Given the description of an element on the screen output the (x, y) to click on. 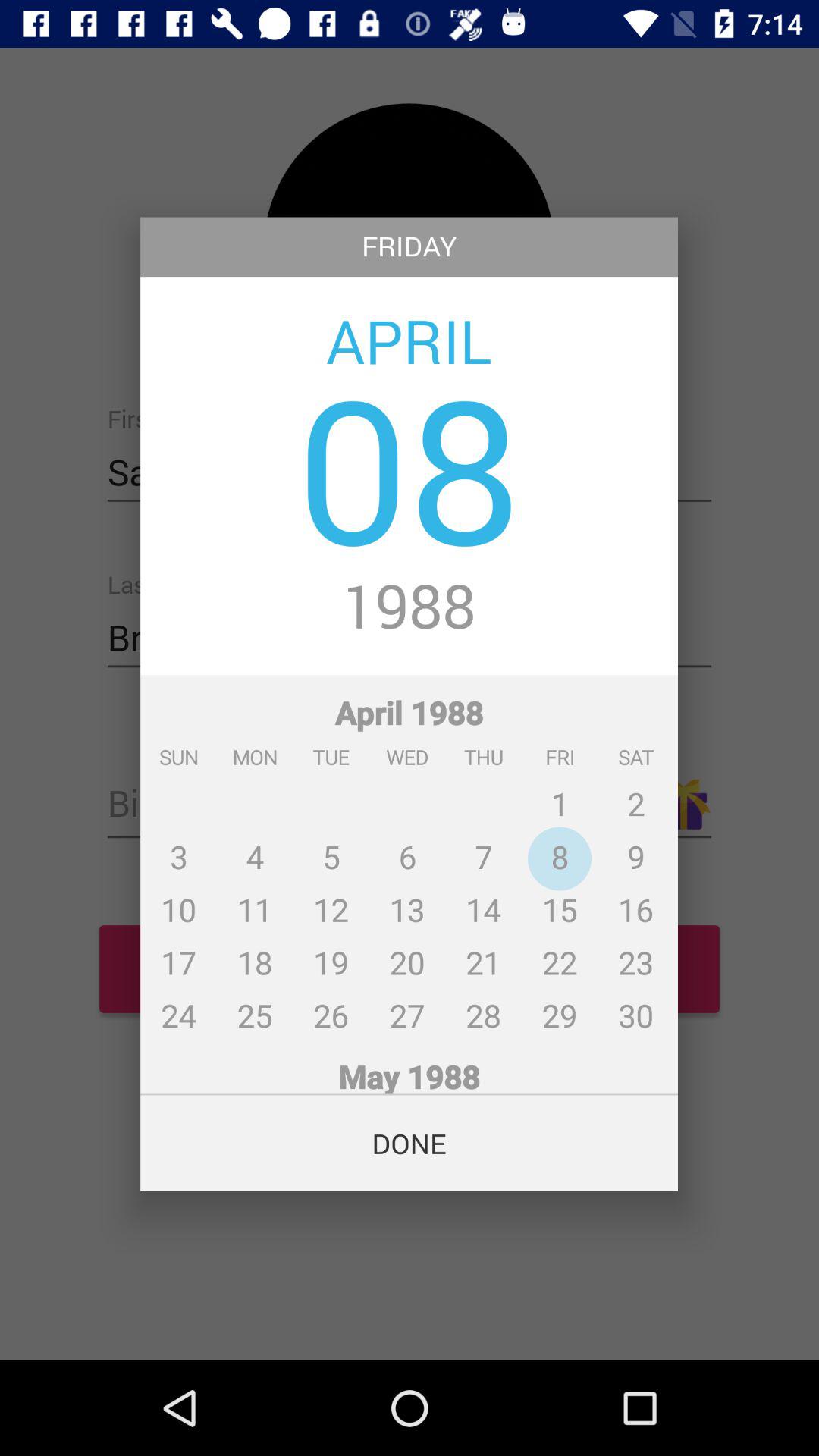
turn off 1988 icon (408, 608)
